Given the description of an element on the screen output the (x, y) to click on. 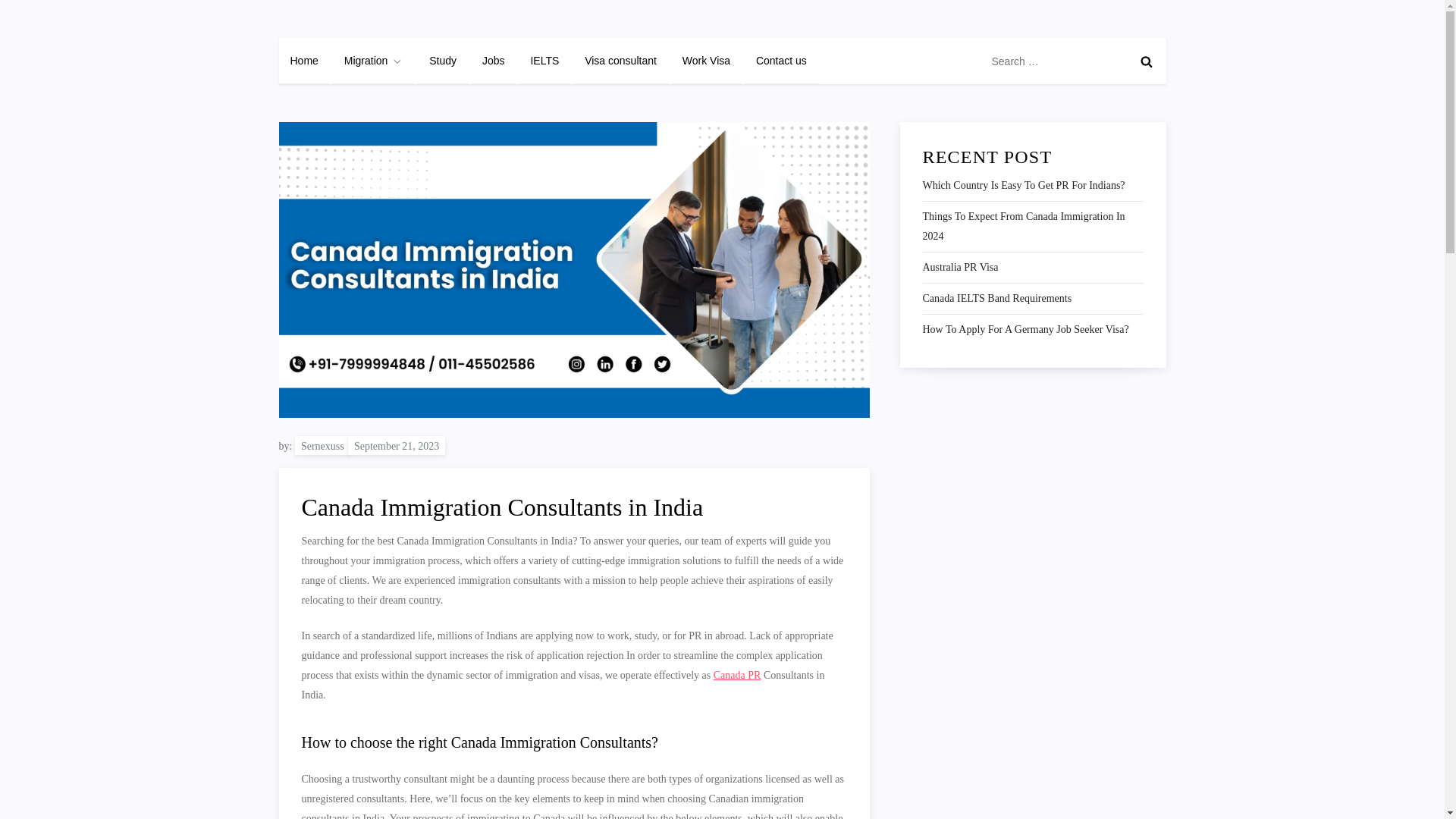
Contact us (781, 60)
How To Apply For A Germany Job Seeker Visa? (1024, 329)
Sernexuss (327, 32)
September 21, 2023 (396, 444)
Australia PR Visa (959, 267)
Visa consultant (620, 60)
IELTS (544, 60)
Sernexuss (322, 444)
Canada PR (737, 674)
Migration (373, 60)
Work Visa (706, 60)
Study (442, 60)
Canada IELTS Band Requirements (996, 298)
Home (304, 60)
Things To Expect From Canada Immigration In 2024 (1031, 226)
